Given the description of an element on the screen output the (x, y) to click on. 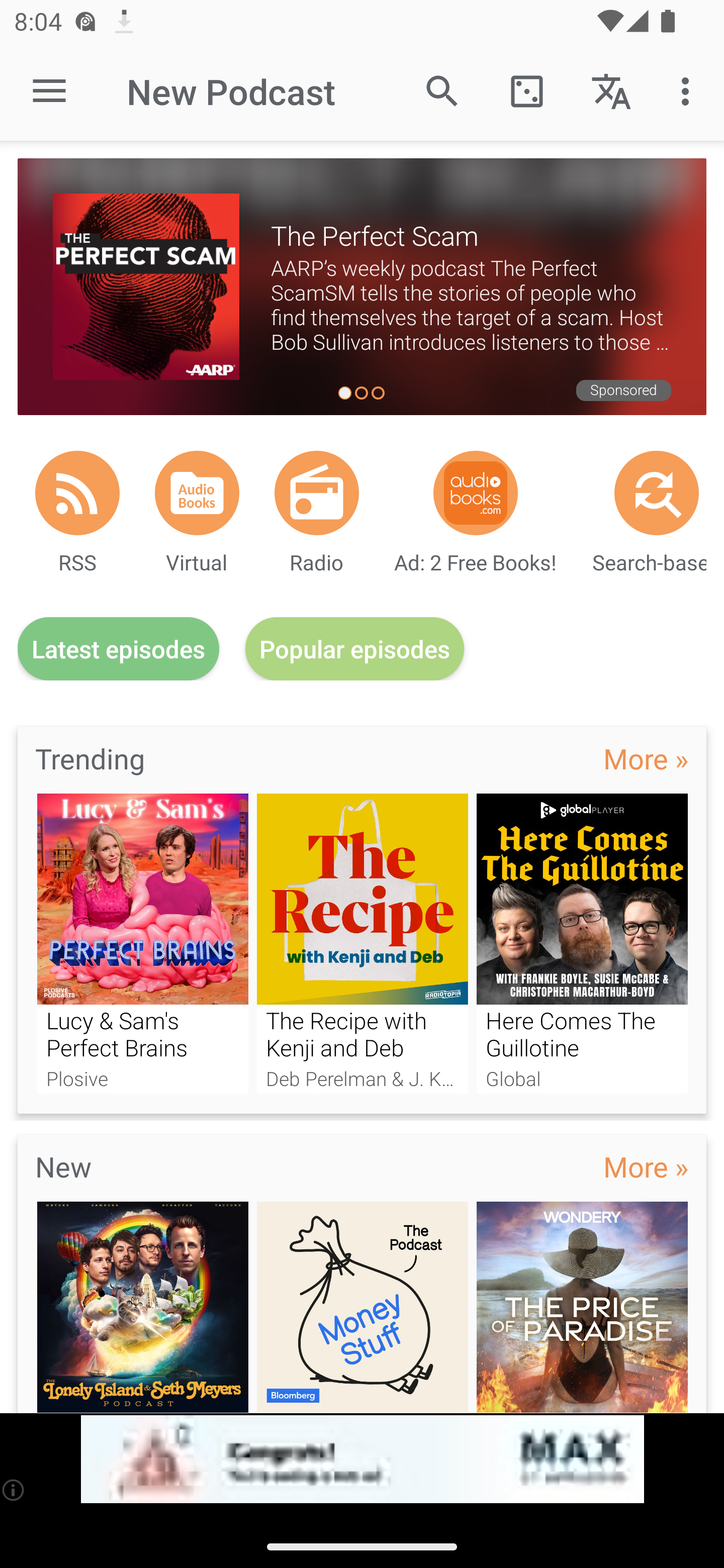
Open navigation sidebar (49, 91)
Search (442, 90)
Random pick (526, 90)
Podcast languages (611, 90)
More options (688, 90)
RSS (77, 492)
Virtual (196, 492)
Radio (316, 492)
Search-based (656, 492)
Latest episodes (118, 648)
Popular episodes (354, 648)
More » (645, 757)
Lucy & Sam's Perfect Brains Plosive (142, 942)
Here Comes The Guillotine Global (581, 942)
More » (645, 1166)
The Lonely Island and Seth Meyers Podcast (142, 1306)
Money Stuff: The Podcast (362, 1306)
The Price of Paradise (581, 1306)
app-monetization (362, 1459)
(i) (14, 1489)
